Given the description of an element on the screen output the (x, y) to click on. 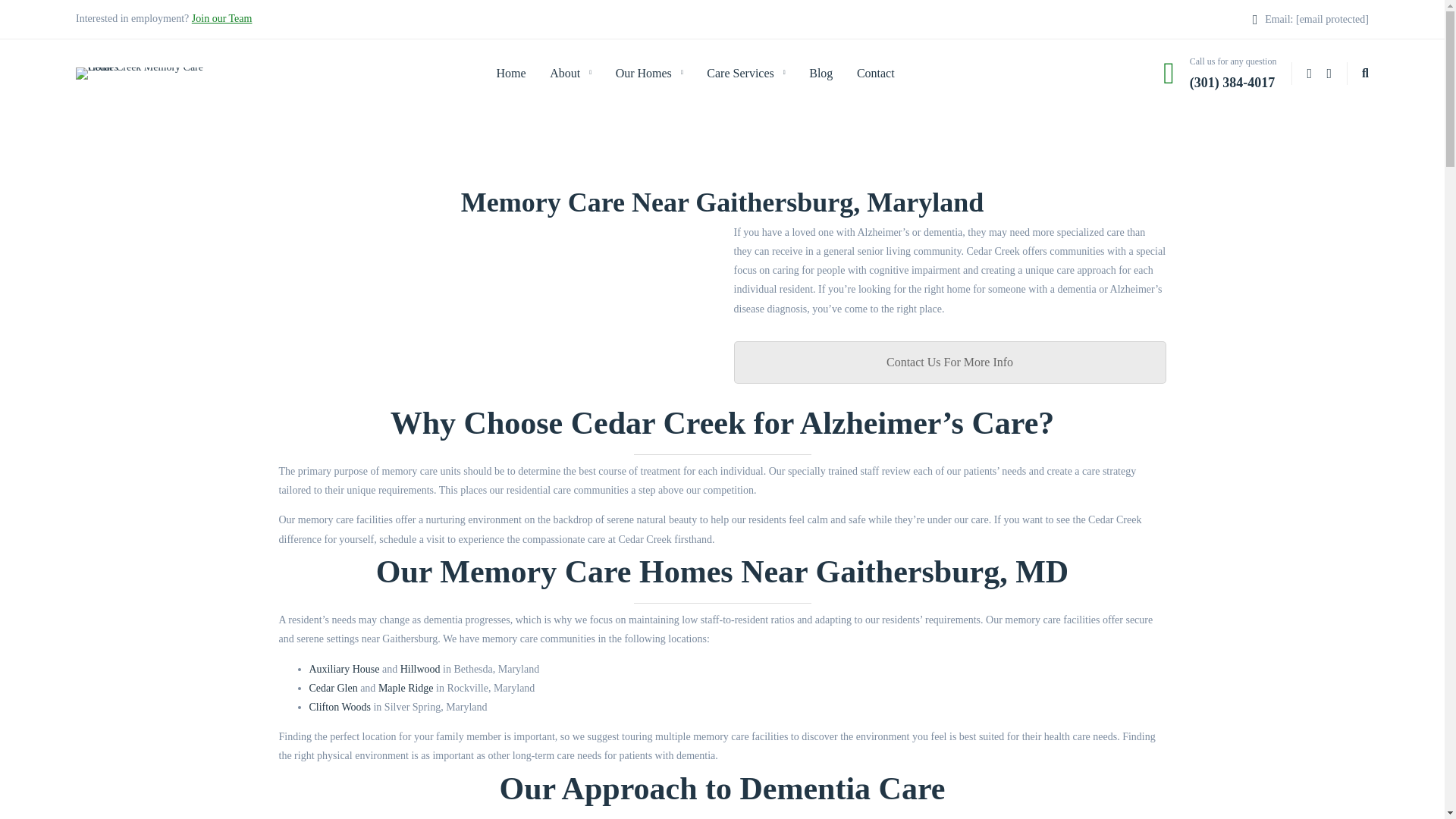
Our Homes (649, 73)
Care Services (744, 73)
Cedar Glen (333, 687)
Hillwood (420, 668)
Maple Ridge (405, 687)
Contact Us For More Info (949, 362)
Join our Team (221, 18)
Auxiliary House (344, 668)
About (570, 73)
Clifton Woods (339, 706)
